Given the description of an element on the screen output the (x, y) to click on. 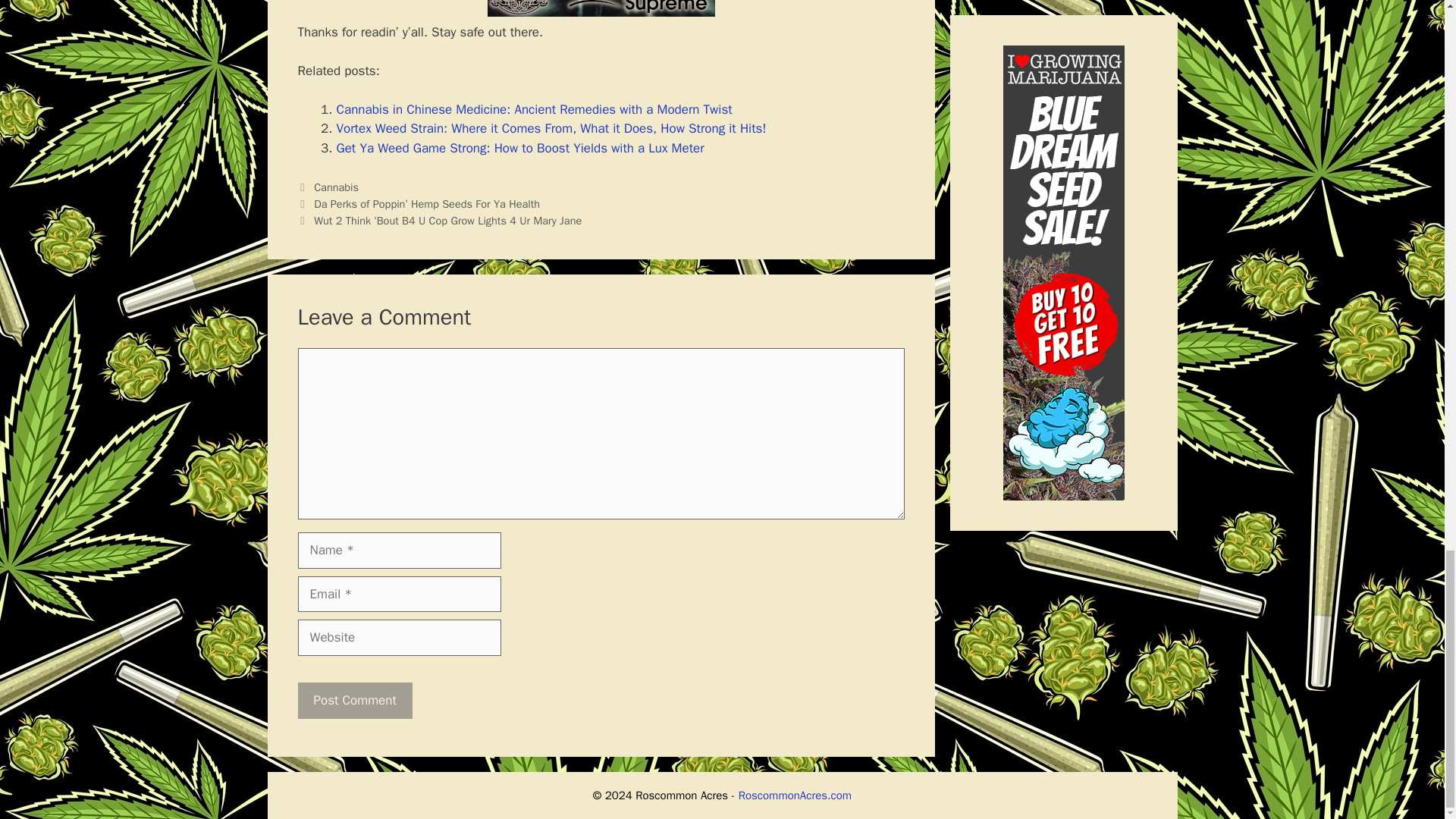
RoscommonAcres.com (794, 795)
Cannabis (336, 187)
Post Comment (354, 700)
Post Comment (354, 700)
